Given the description of an element on the screen output the (x, y) to click on. 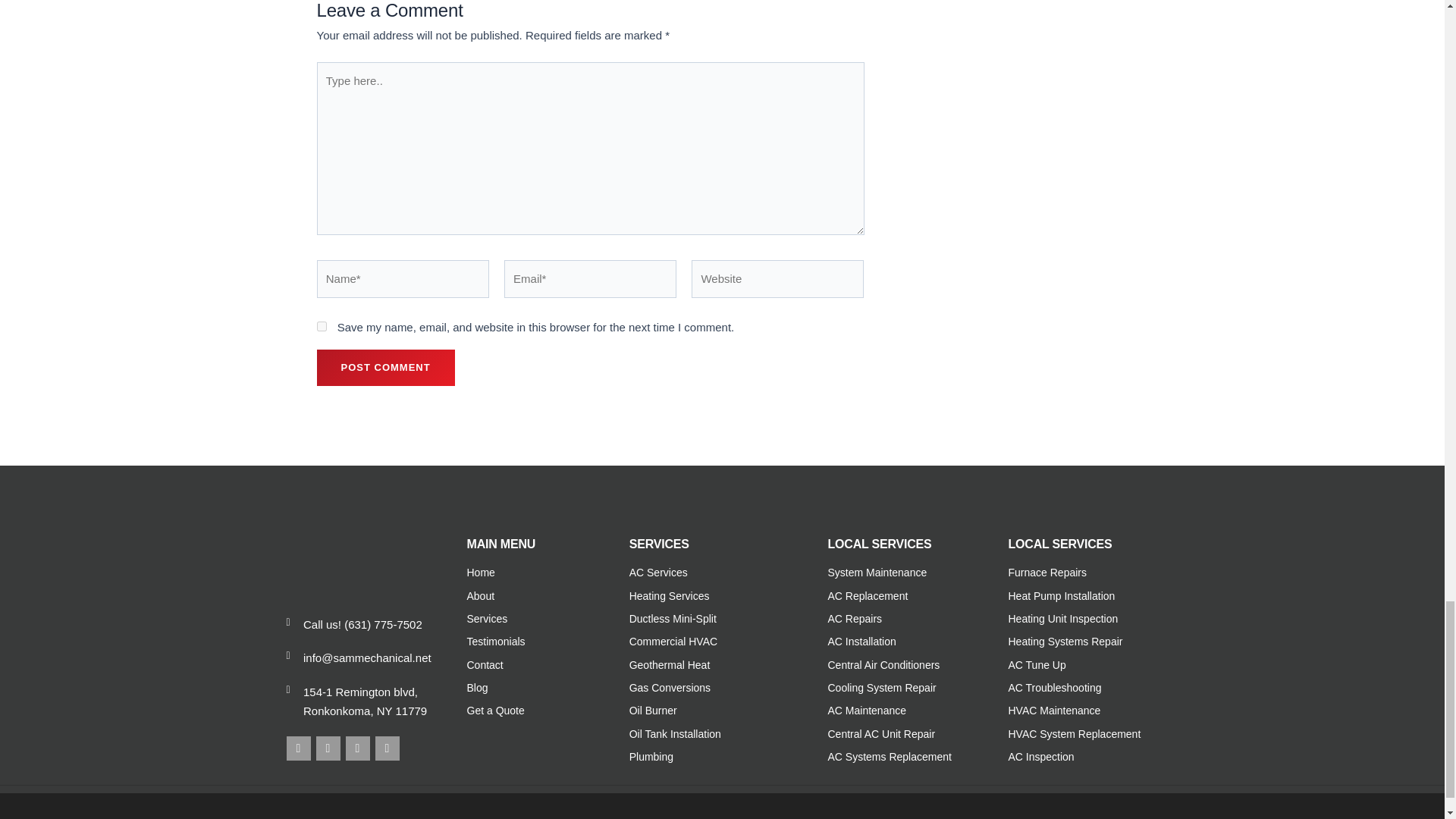
Post Comment (385, 367)
yes (321, 326)
